Given the description of an element on the screen output the (x, y) to click on. 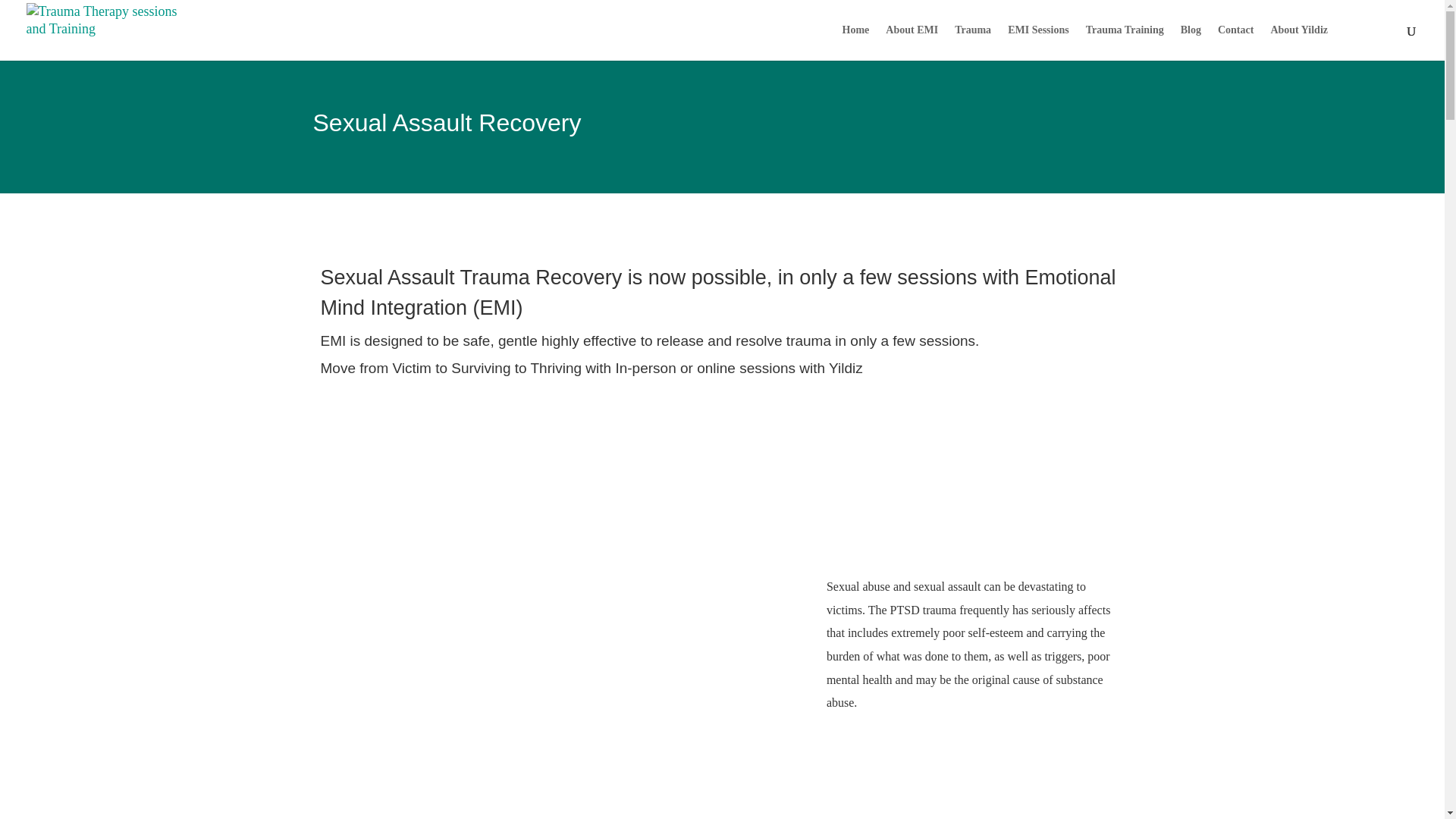
Trauma Training (1124, 42)
Trauma (973, 42)
RCH (1366, 22)
EMI Sessions (1037, 42)
About EMI (911, 42)
About Yildiz (1298, 42)
Contact (1235, 42)
